Given the description of an element on the screen output the (x, y) to click on. 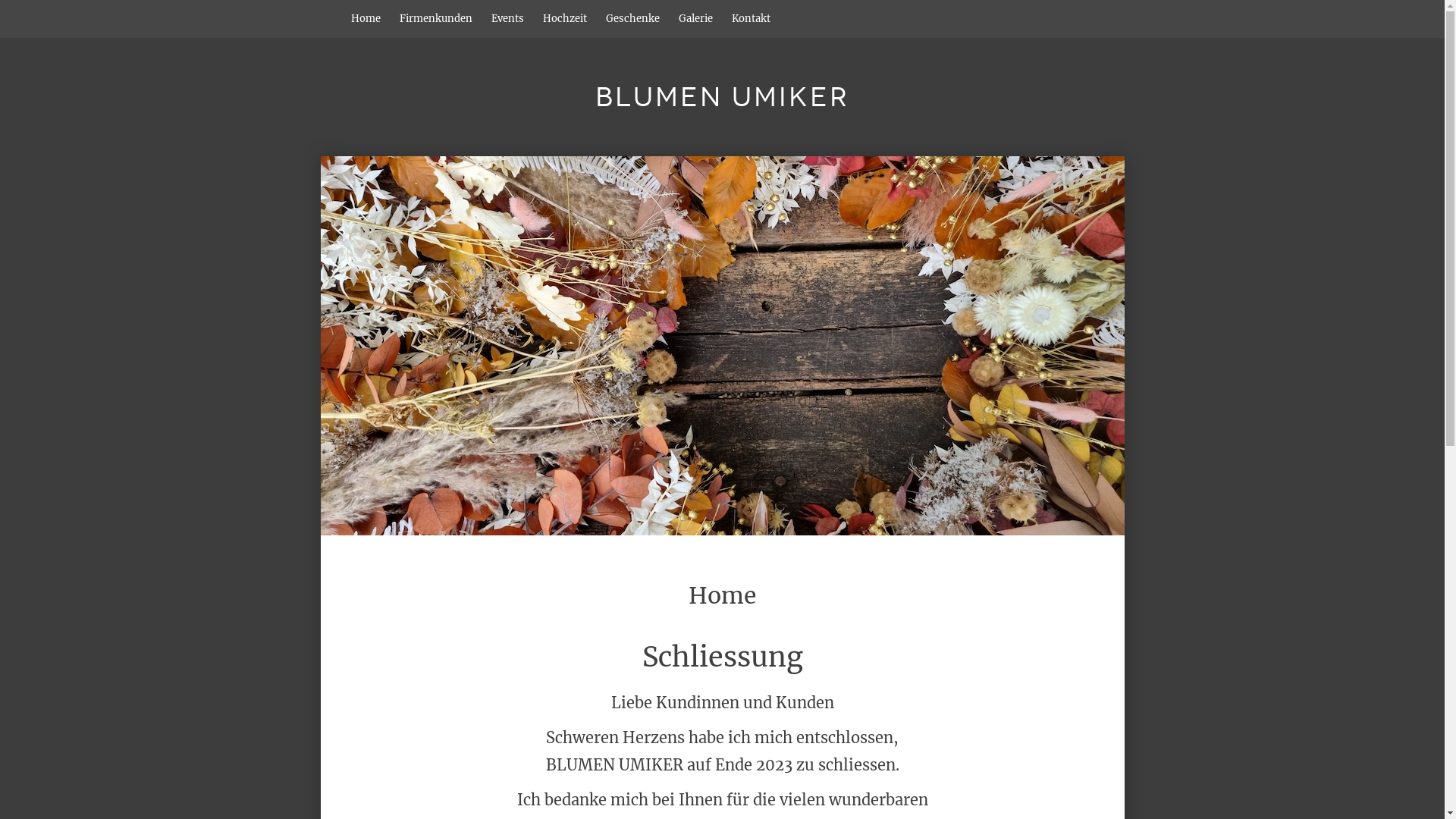
Firmenkunden Element type: text (434, 18)
Hochzeit Element type: text (564, 18)
Kontakt Element type: text (750, 18)
Home Element type: text (364, 18)
Events Element type: text (507, 18)
BLUMEN UMIKER Element type: text (722, 96)
Geschenke Element type: text (631, 18)
Galerie Element type: text (694, 18)
Home Element type: hover (721, 345)
